Given the description of an element on the screen output the (x, y) to click on. 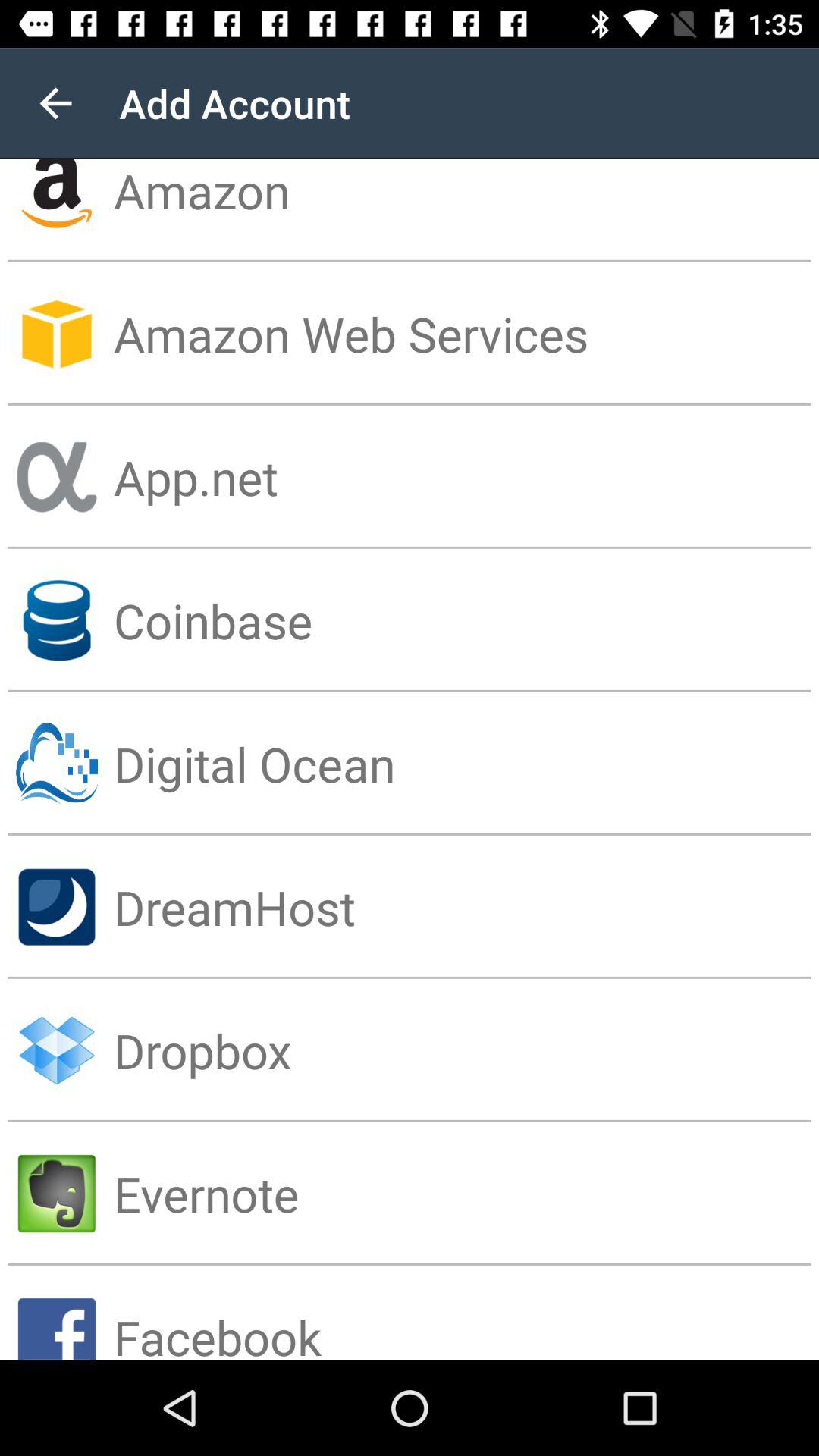
tap the evernote icon (466, 1193)
